Given the description of an element on the screen output the (x, y) to click on. 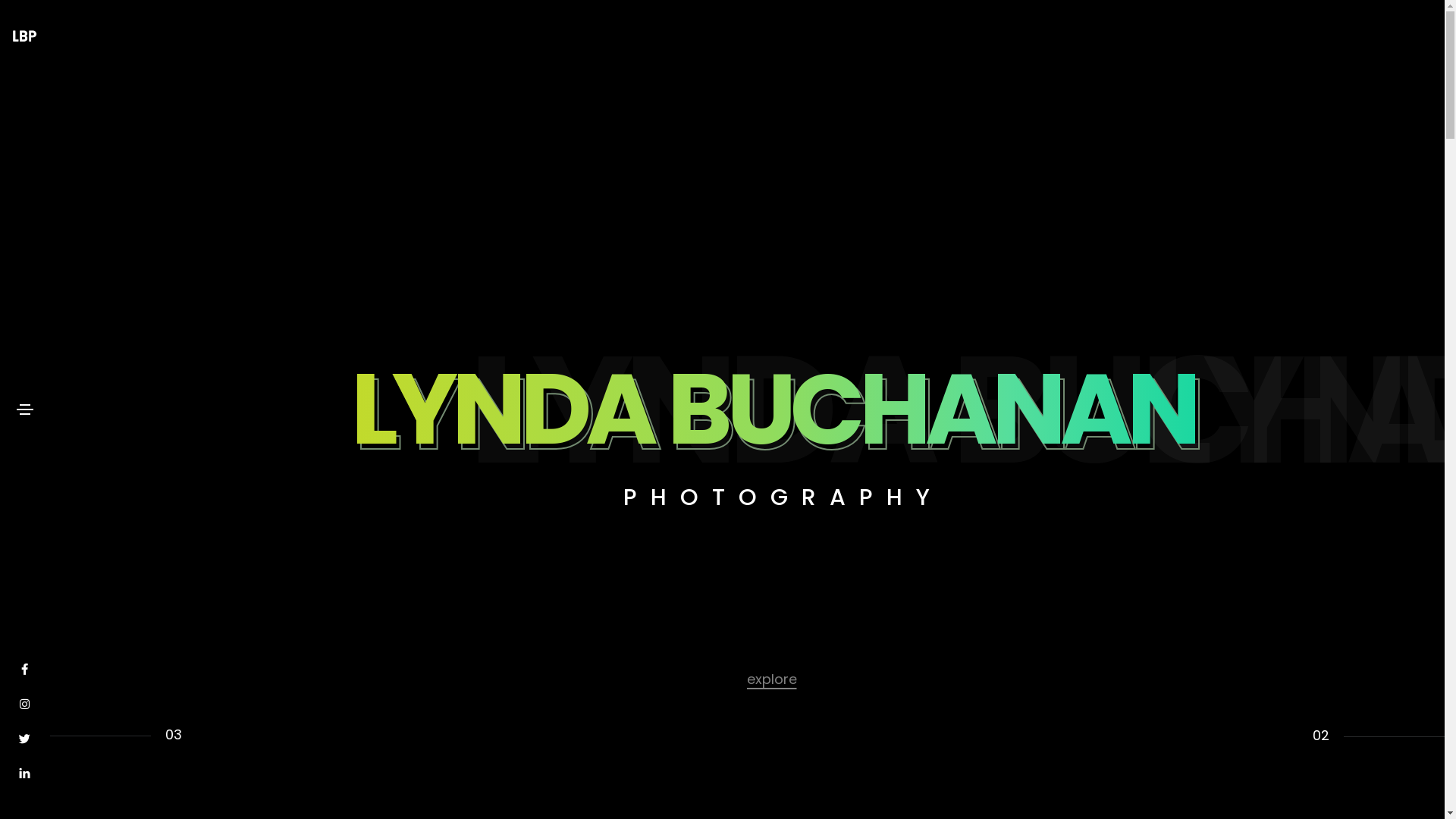
explore Element type: text (771, 678)
